Given the description of an element on the screen output the (x, y) to click on. 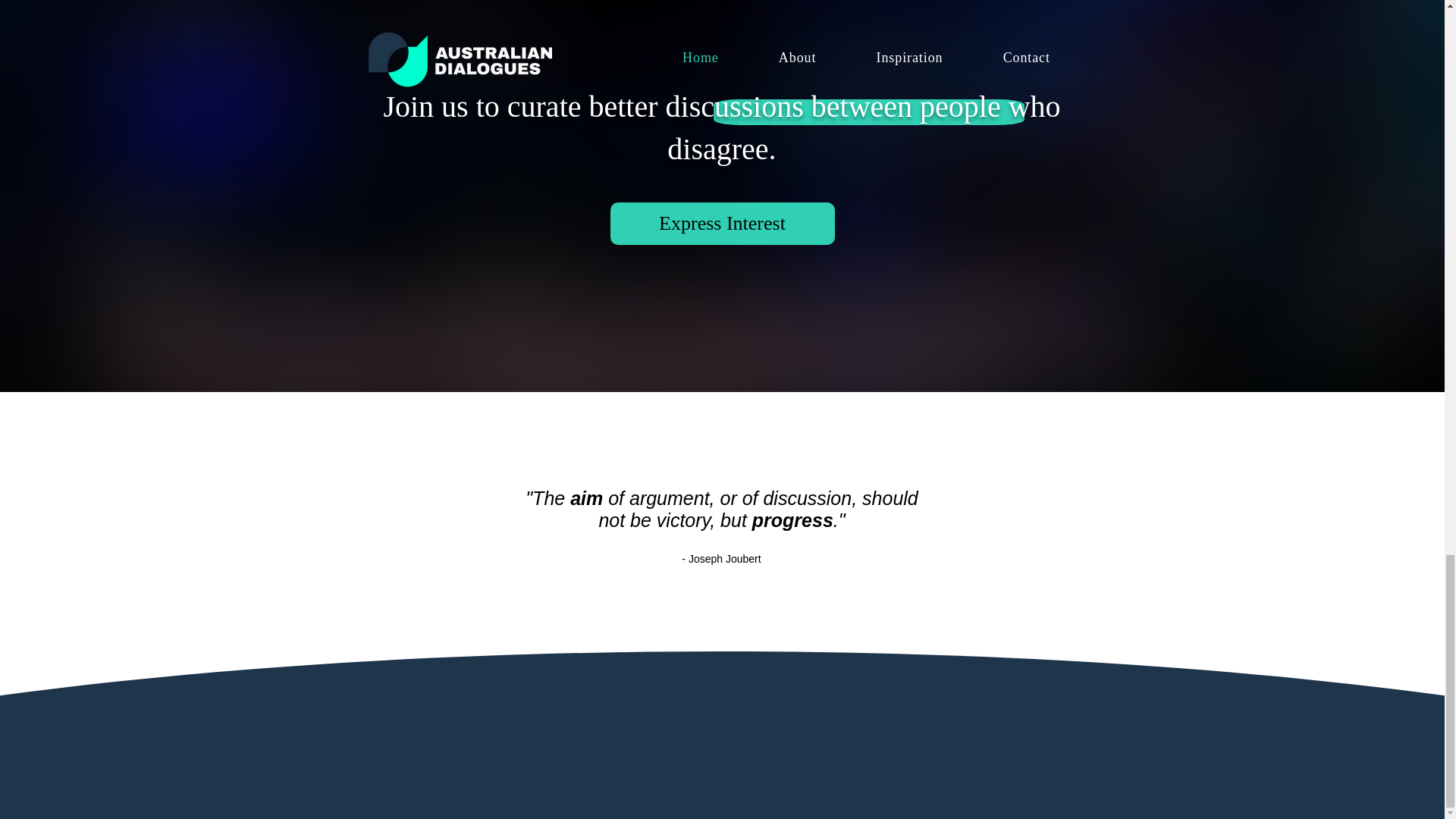
Express Interest (722, 223)
